Given the description of an element on the screen output the (x, y) to click on. 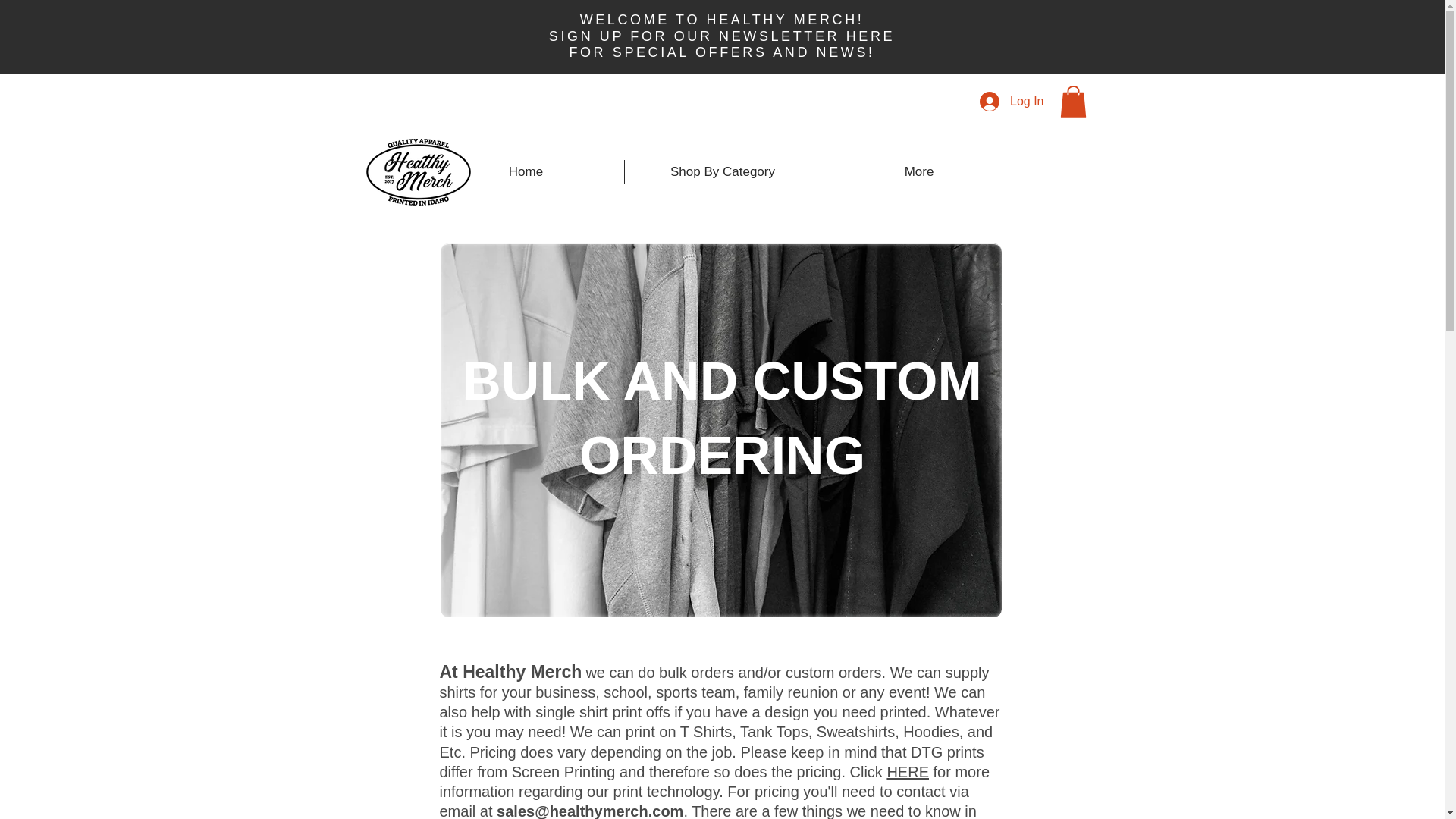
HERE (870, 36)
Log In (1011, 101)
Shop By Category (722, 171)
HERE (907, 771)
Home (526, 171)
